Given the description of an element on the screen output the (x, y) to click on. 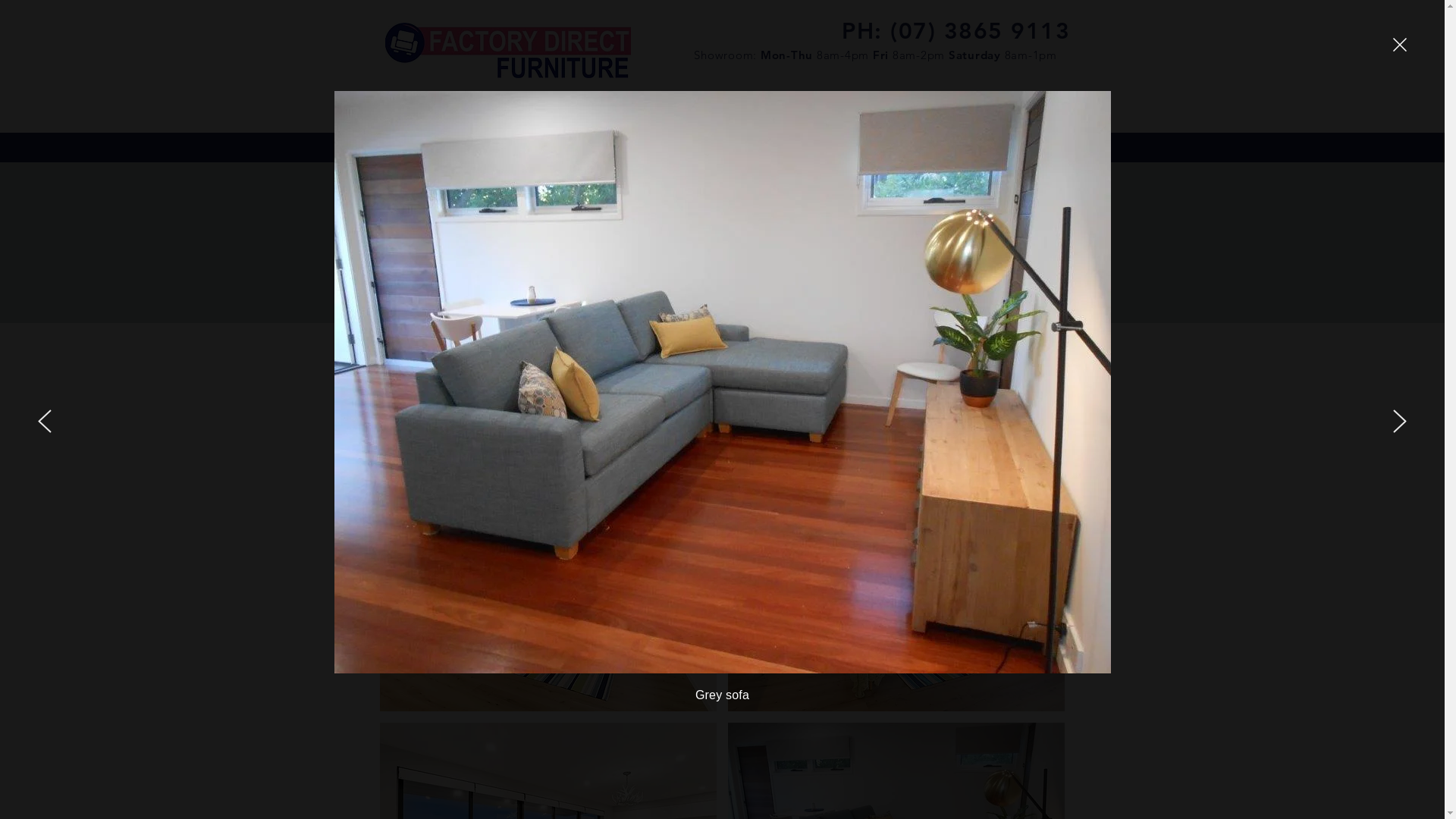
CONTACT Element type: text (1011, 147)
TIPS Element type: text (567, 147)
FABRIC Element type: text (737, 147)
LOCATION Element type: text (915, 147)
GALLERY Element type: text (820, 147)
HOME Element type: text (422, 147)
(07) 3865 9113 Element type: text (980, 30)
ABOUT Element type: text (498, 147)
